Given the description of an element on the screen output the (x, y) to click on. 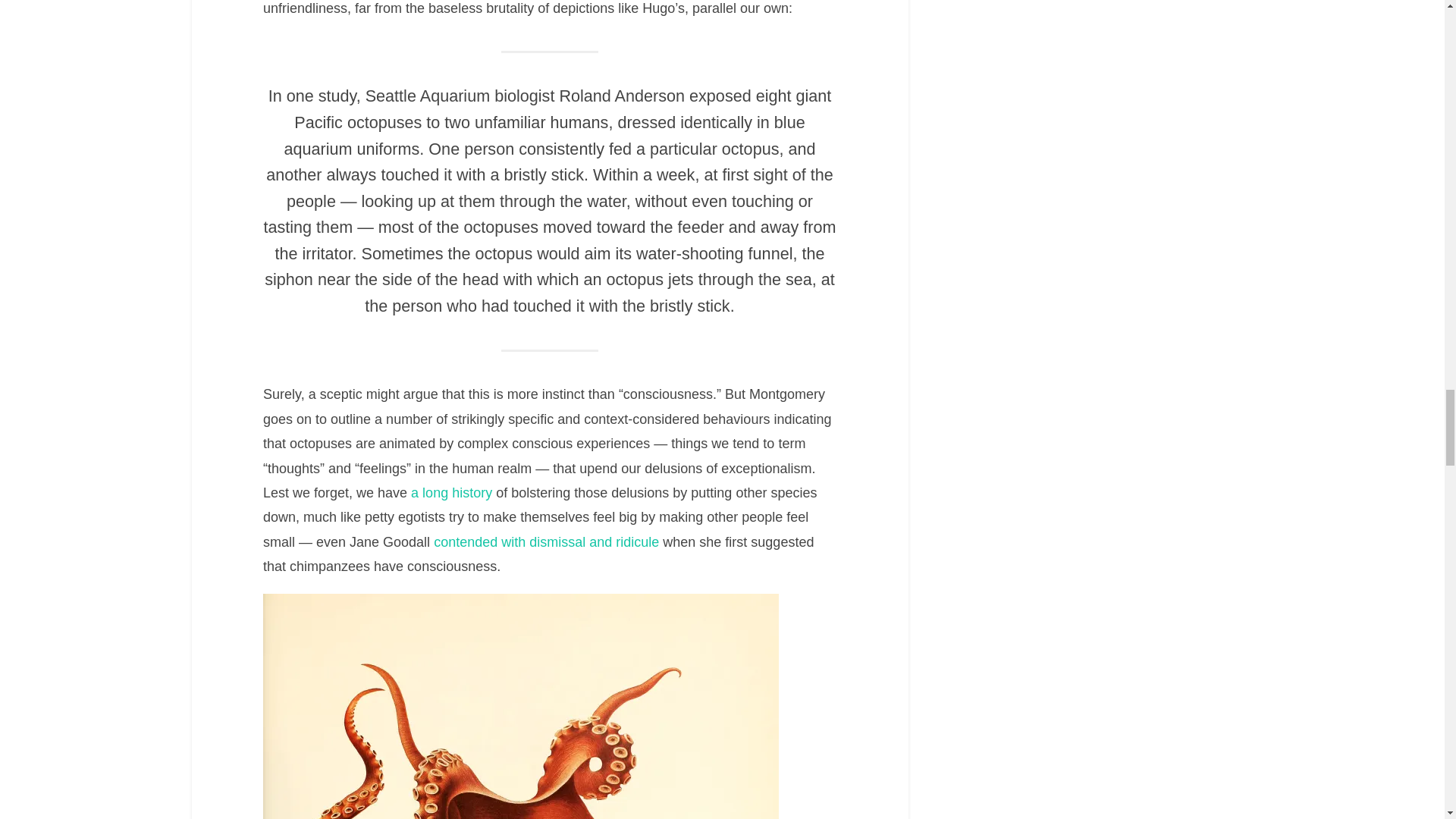
a long history (451, 492)
contended with dismissal and ridicule (546, 541)
